Given the description of an element on the screen output the (x, y) to click on. 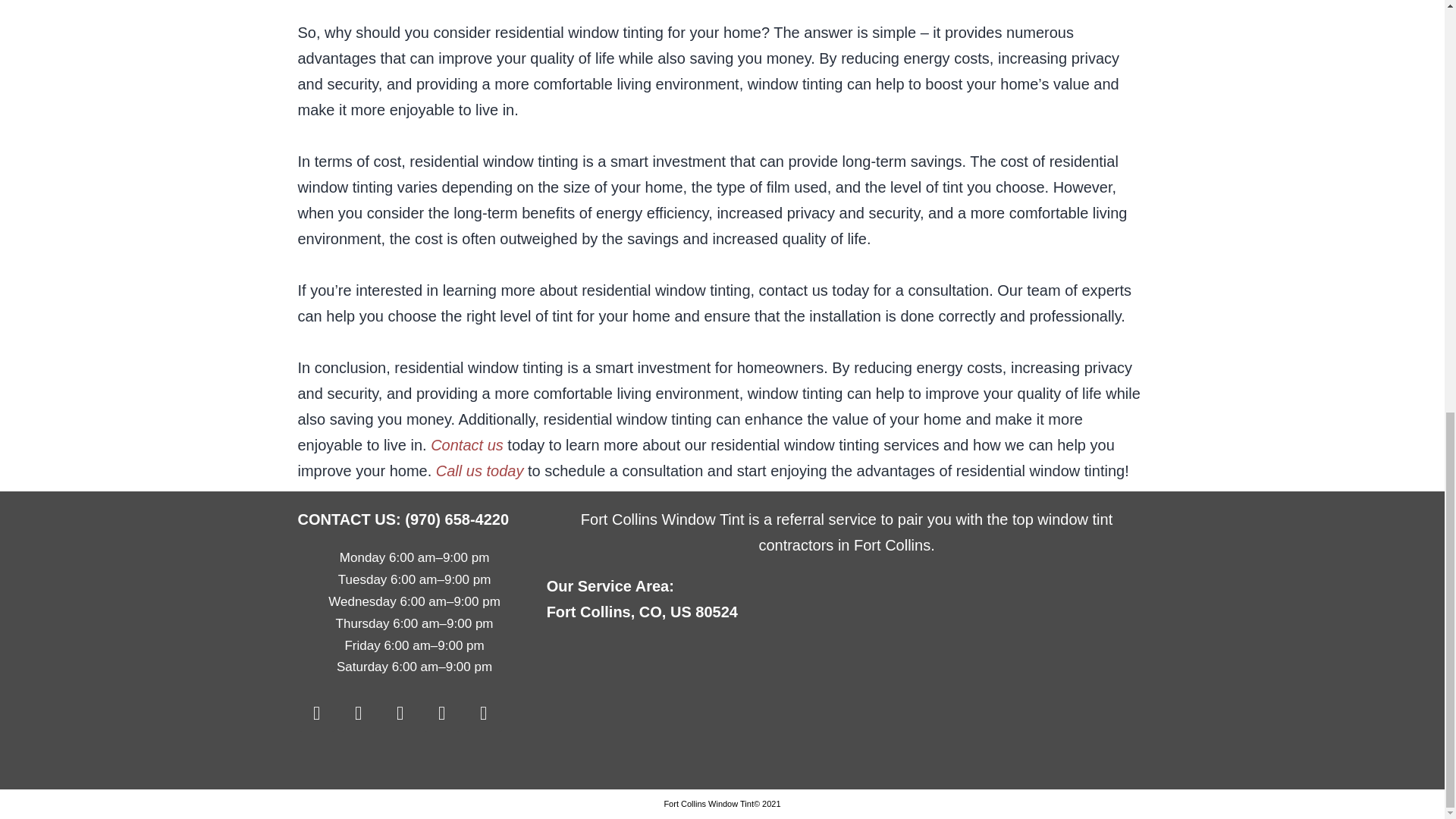
Call us today (479, 470)
Fort Collins, CO, US (847, 706)
Contact us (466, 444)
